Given the description of an element on the screen output the (x, y) to click on. 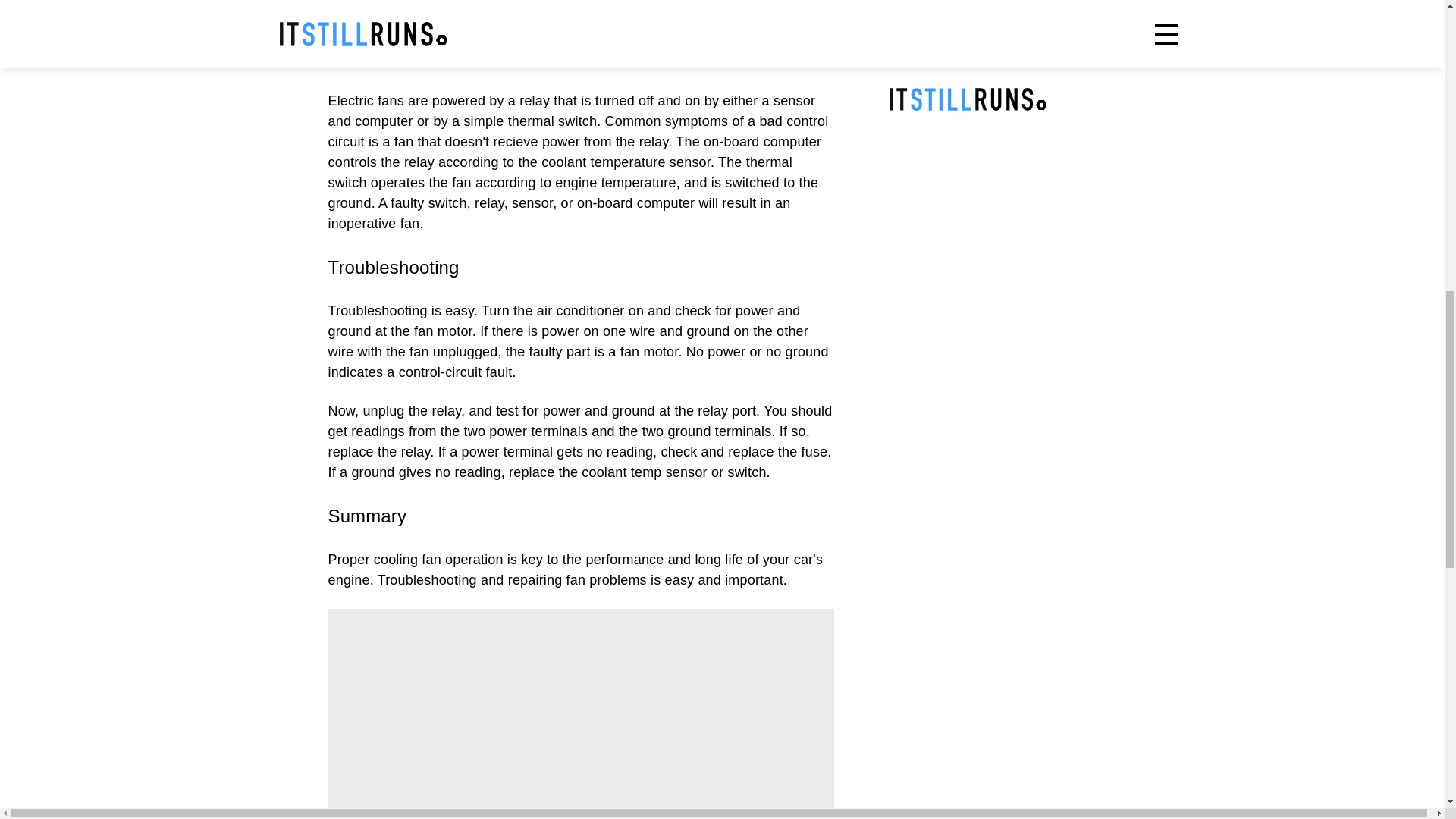
Advertisement (580, 714)
